Given the description of an element on the screen output the (x, y) to click on. 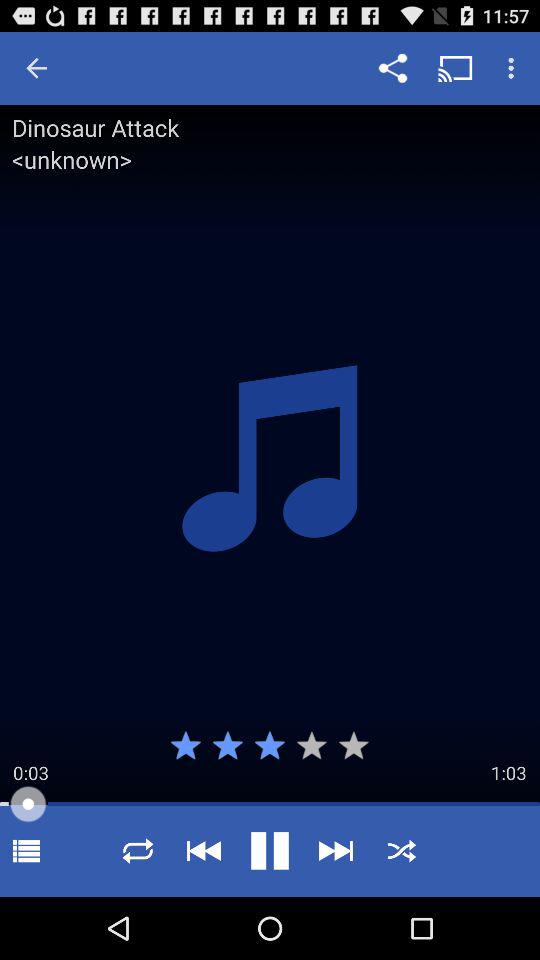
repeat selection (137, 850)
